Given the description of an element on the screen output the (x, y) to click on. 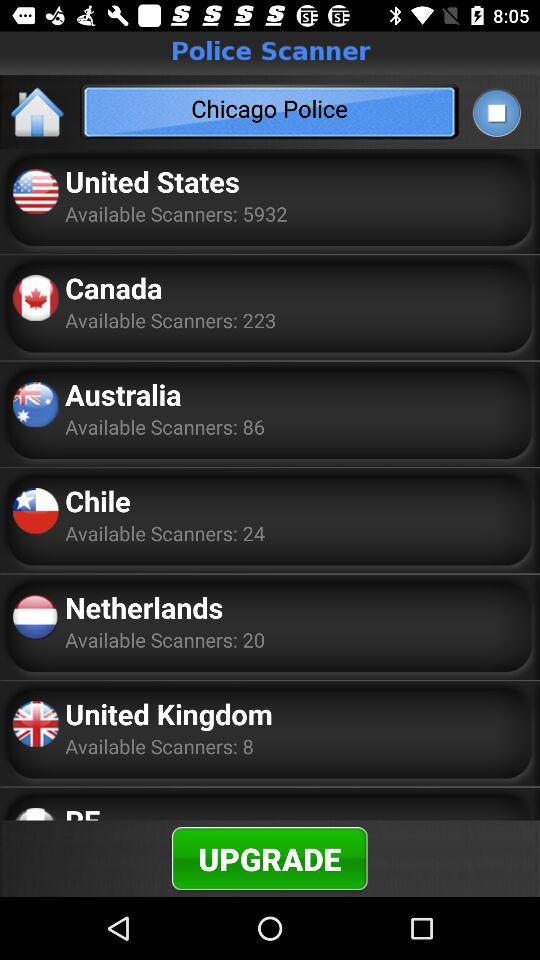
click the chile app (97, 500)
